Given the description of an element on the screen output the (x, y) to click on. 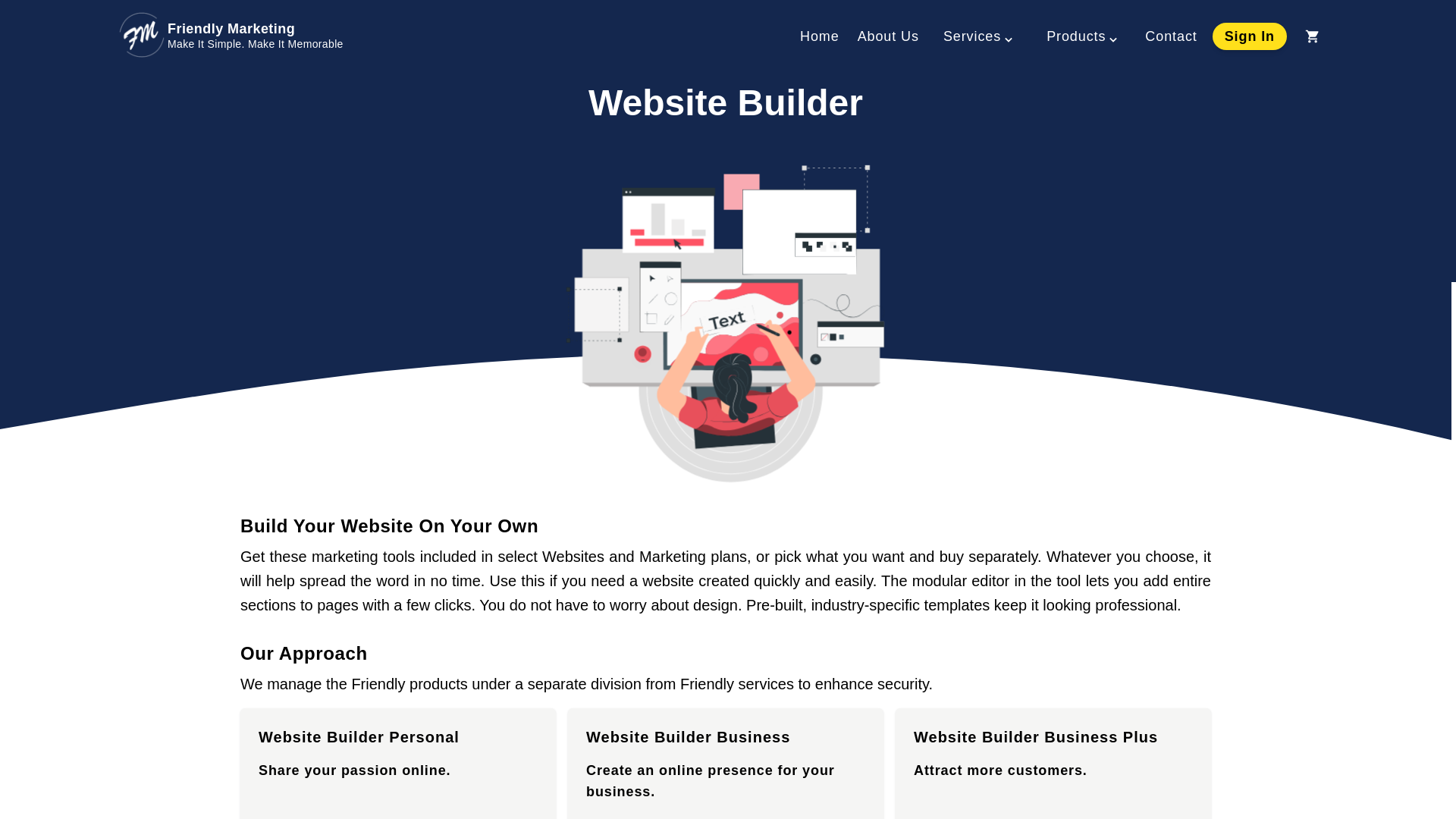
Products (1083, 36)
Friendly Marketing (255, 35)
Sign In (1249, 35)
Contact (1170, 35)
Services (979, 36)
About Us (887, 35)
Home (819, 35)
